Given the description of an element on the screen output the (x, y) to click on. 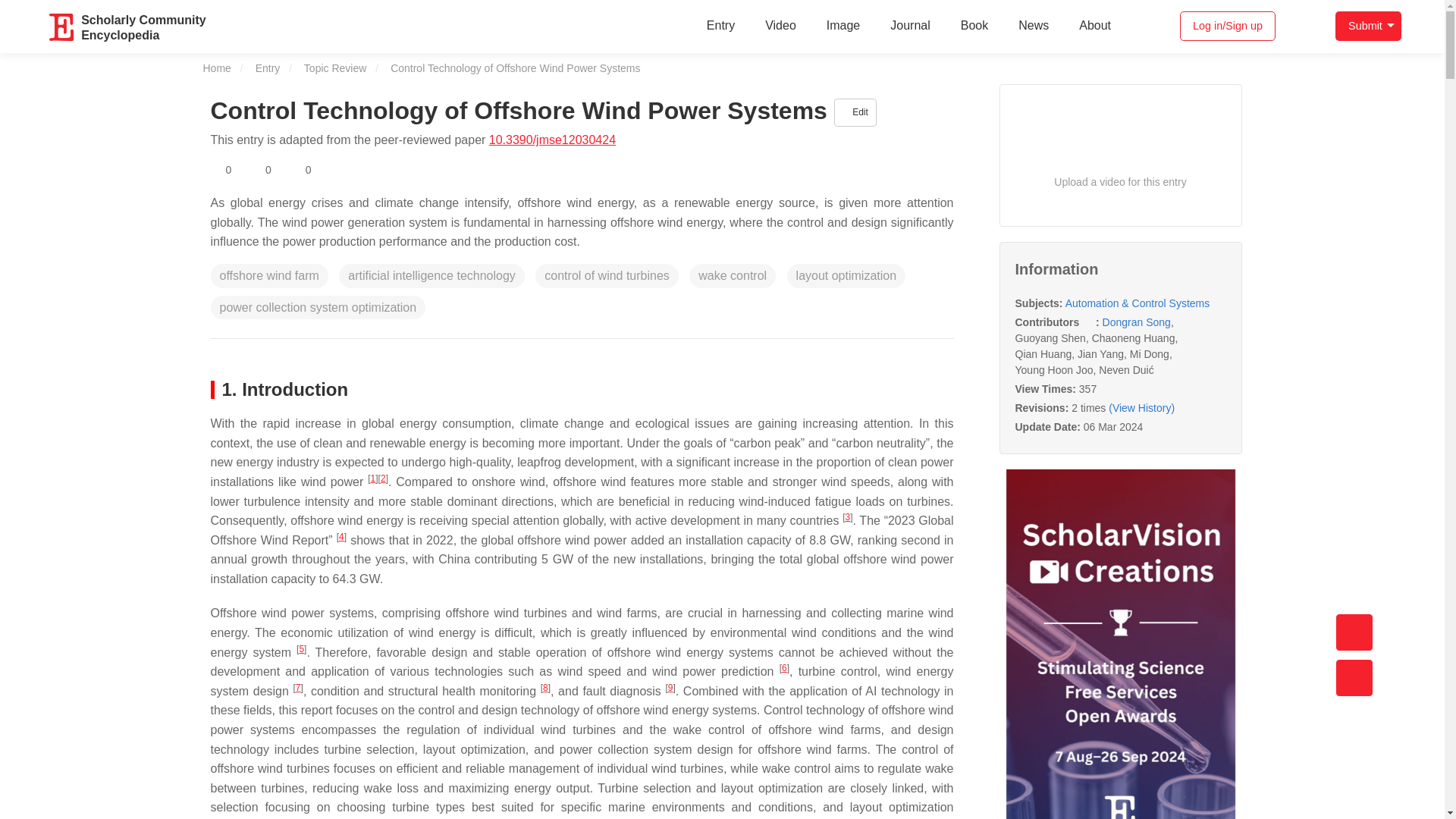
Favorite (221, 169)
About (1094, 25)
Comment (300, 169)
Video (779, 25)
News (1033, 25)
Submit (1367, 25)
Image (842, 25)
Edit (855, 112)
Entry (143, 25)
